Given the description of an element on the screen output the (x, y) to click on. 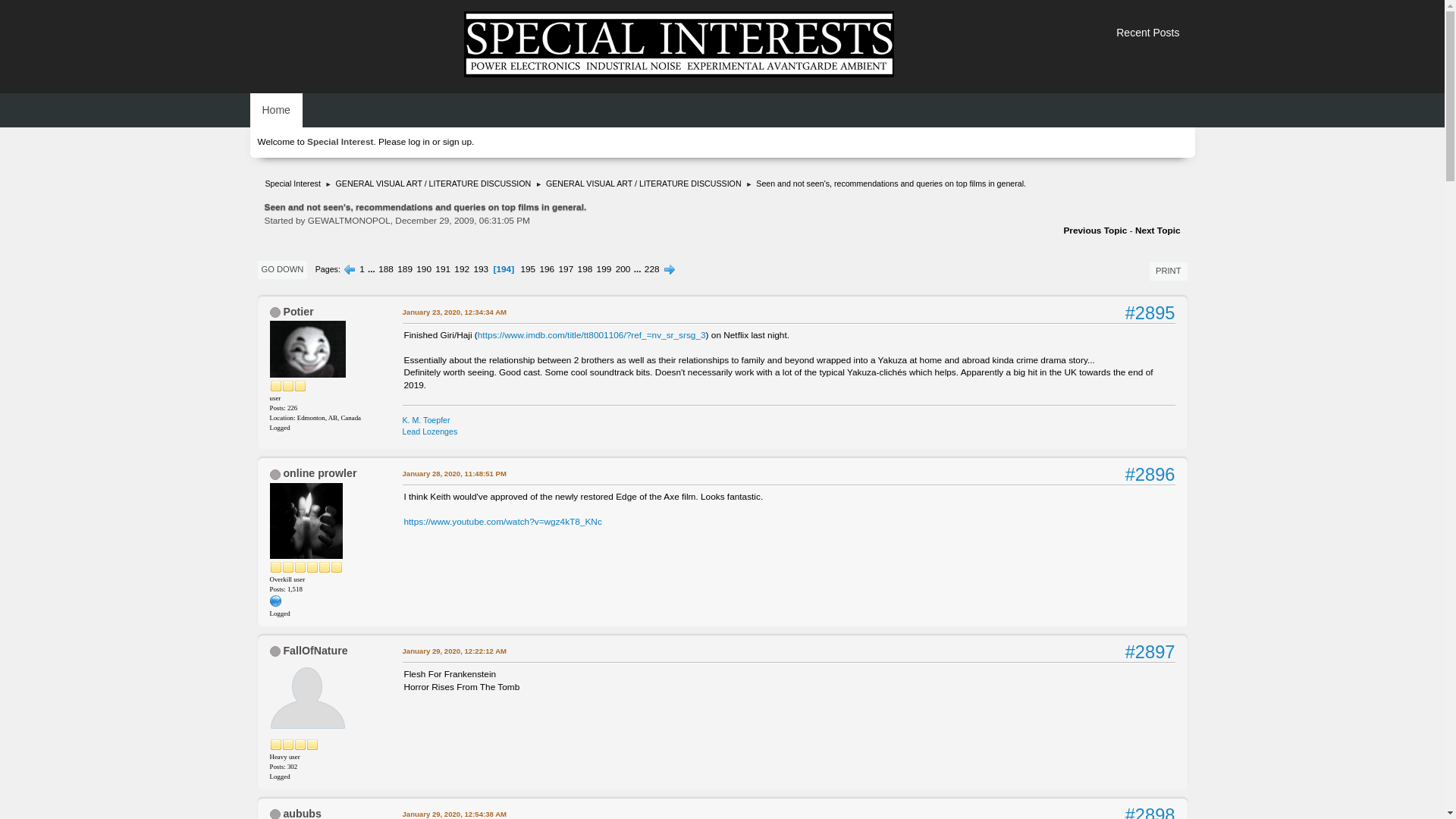
sign up (456, 141)
198 (585, 268)
Recent Posts (1147, 32)
January 23, 2020, 12:34:34 AM (453, 312)
Lead Lozenges (429, 430)
Special Interest (292, 180)
online prowler (319, 472)
190 (423, 268)
View the profile of FallOfNature (314, 650)
188 (385, 268)
View the profile of Potier (297, 311)
196 (546, 268)
Offline (275, 814)
197 (566, 268)
